Given the description of an element on the screen output the (x, y) to click on. 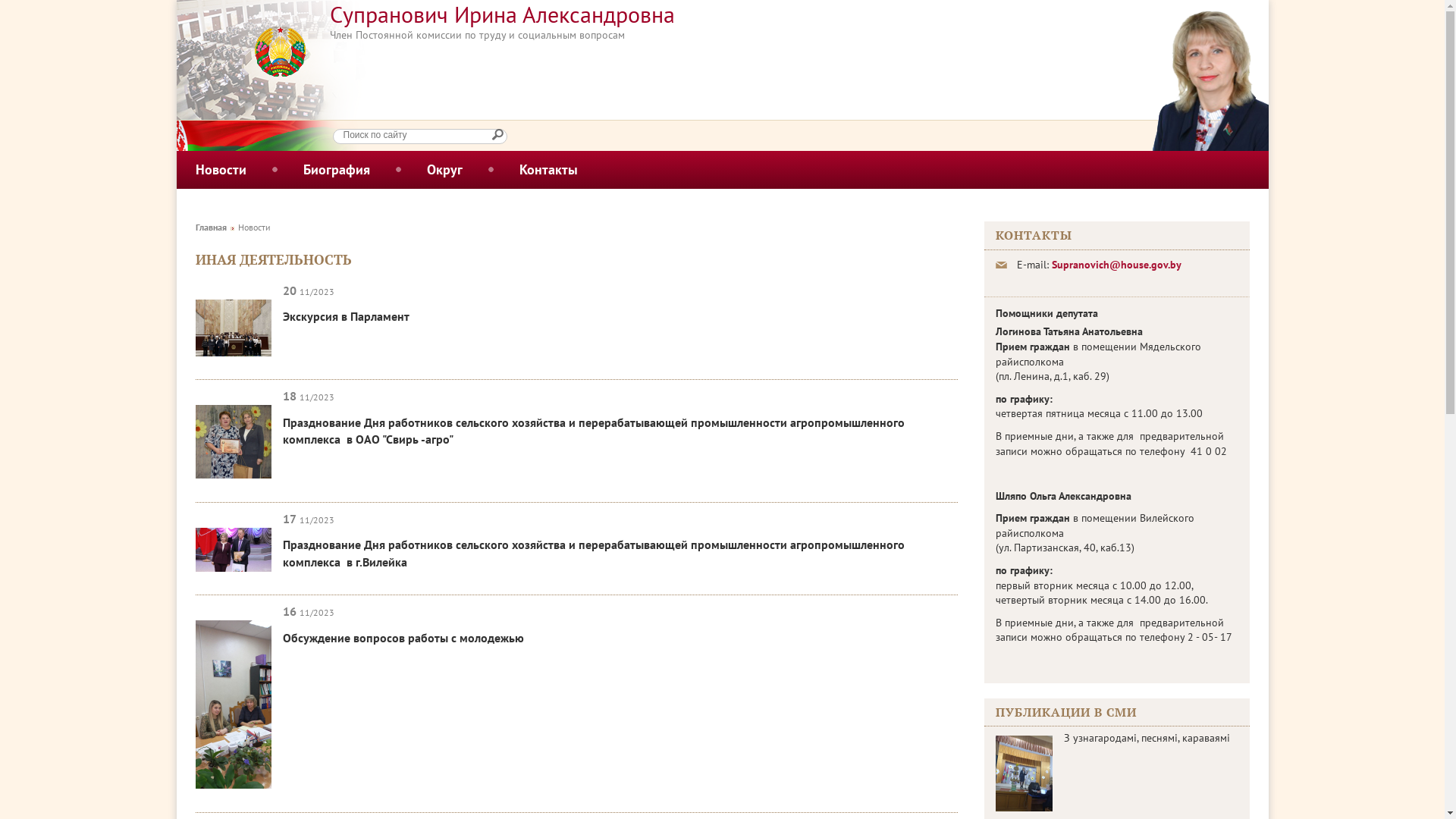
Supranovich@house.gov.by Element type: text (1115, 264)
